Given the description of an element on the screen output the (x, y) to click on. 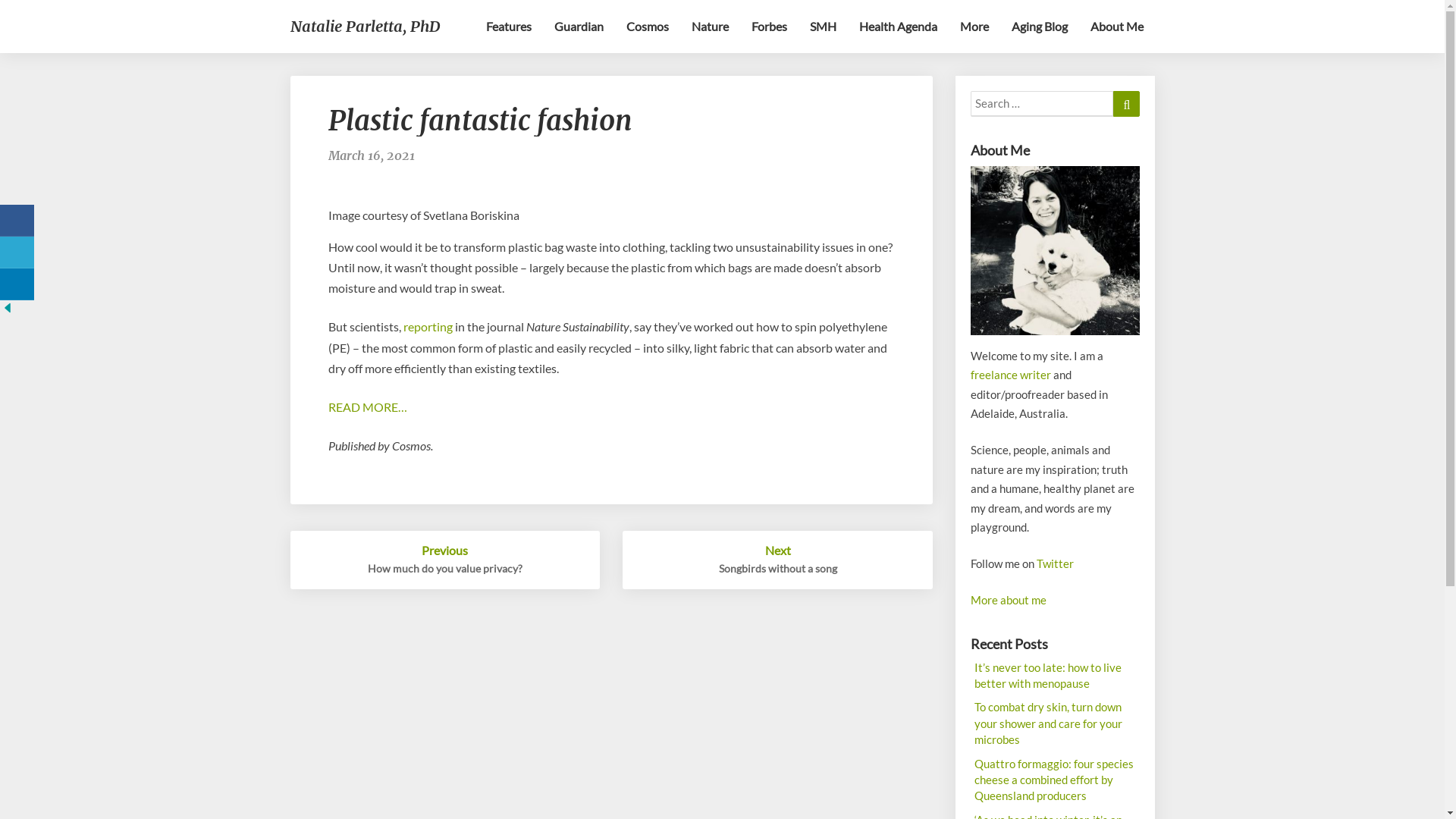
freelance writer Element type: text (1010, 374)
More Element type: text (973, 26)
More about me Element type: text (1008, 599)
Next
Songbirds without a song Element type: text (777, 559)
Share This With Your Friends Element type: hover (18, 265)
Guardian Element type: text (578, 26)
Search Element type: text (1126, 103)
About Me Element type: text (1116, 26)
Health Agenda Element type: text (897, 26)
Features Element type: text (508, 26)
SMH Element type: text (822, 26)
Cosmos Element type: text (646, 26)
Hide Buttons Element type: hover (7, 311)
Aging Blog Element type: text (1038, 26)
Share On Linkedin Element type: hover (17, 284)
Search for: Element type: hover (1041, 103)
Share On Twitter Element type: hover (17, 252)
reporting Element type: text (427, 326)
Forbes Element type: text (769, 26)
Share On Facebook Element type: hover (17, 220)
Nature Element type: text (709, 26)
Twitter Element type: text (1054, 563)
Previous
How much do you value privacy? Element type: text (444, 559)
